Given the description of an element on the screen output the (x, y) to click on. 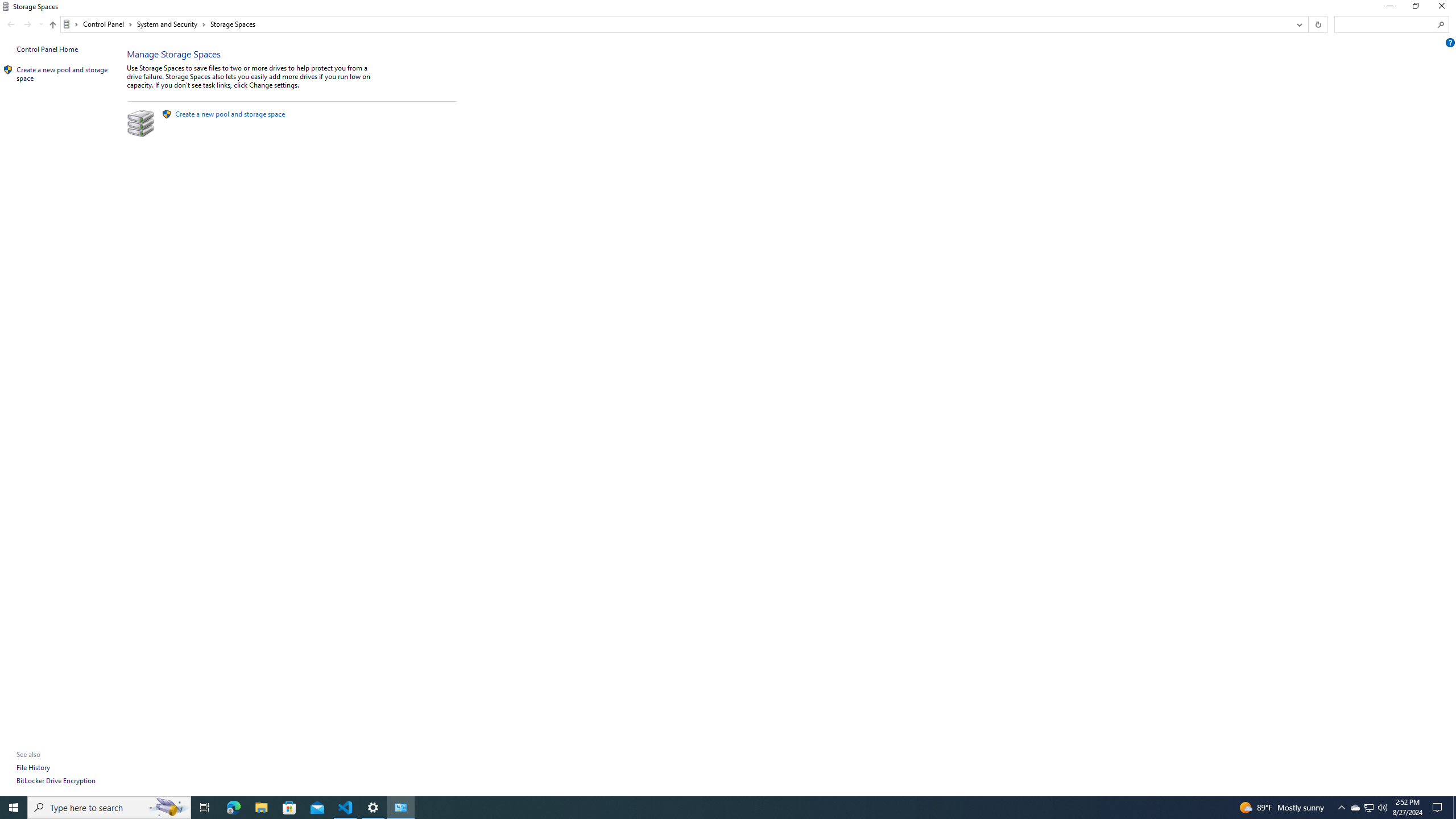
System (6, 6)
System (6, 6)
